Given the description of an element on the screen output the (x, y) to click on. 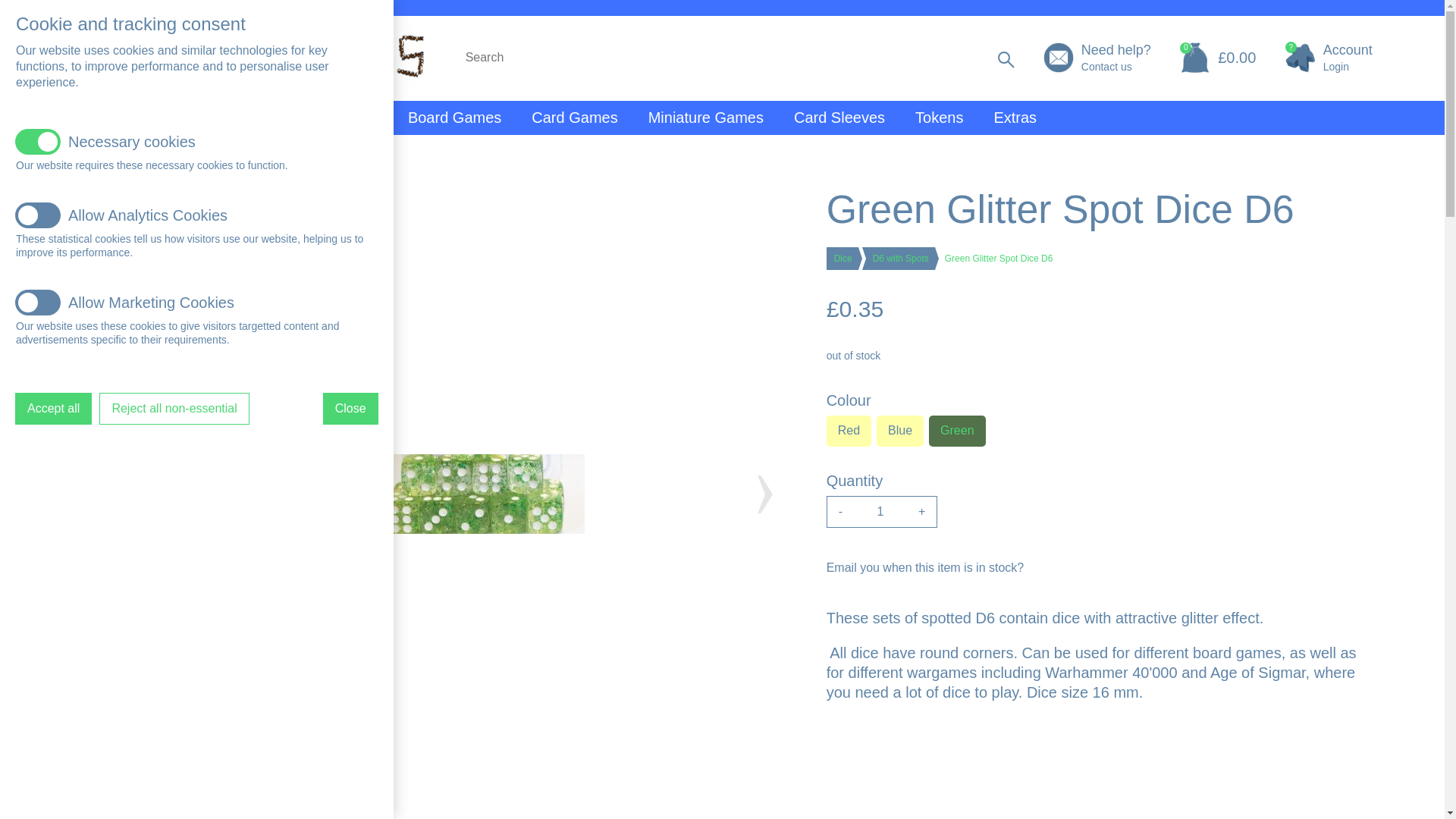
Login (1336, 66)
Board Games (454, 117)
1 (879, 511)
Contact us (1116, 66)
Card Games (573, 117)
Green Glitter Spot Dice D6 (477, 493)
